Given the description of an element on the screen output the (x, y) to click on. 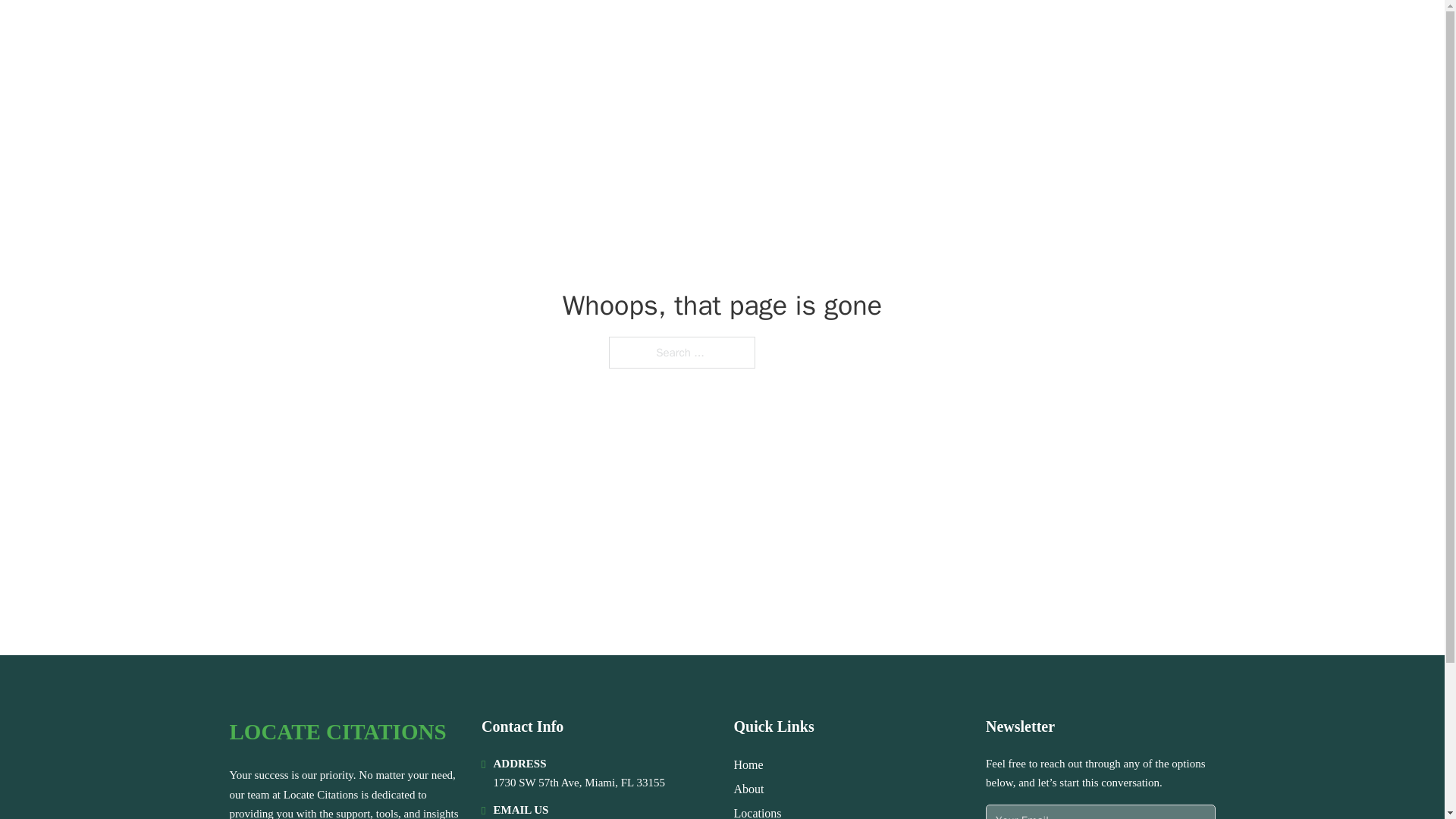
LOCATE CITATIONS (336, 732)
LOCATIONS (1075, 31)
HOME (1002, 31)
Locations (757, 811)
LOCATE CITATIONS (348, 31)
Home (747, 764)
About (748, 788)
